Given the description of an element on the screen output the (x, y) to click on. 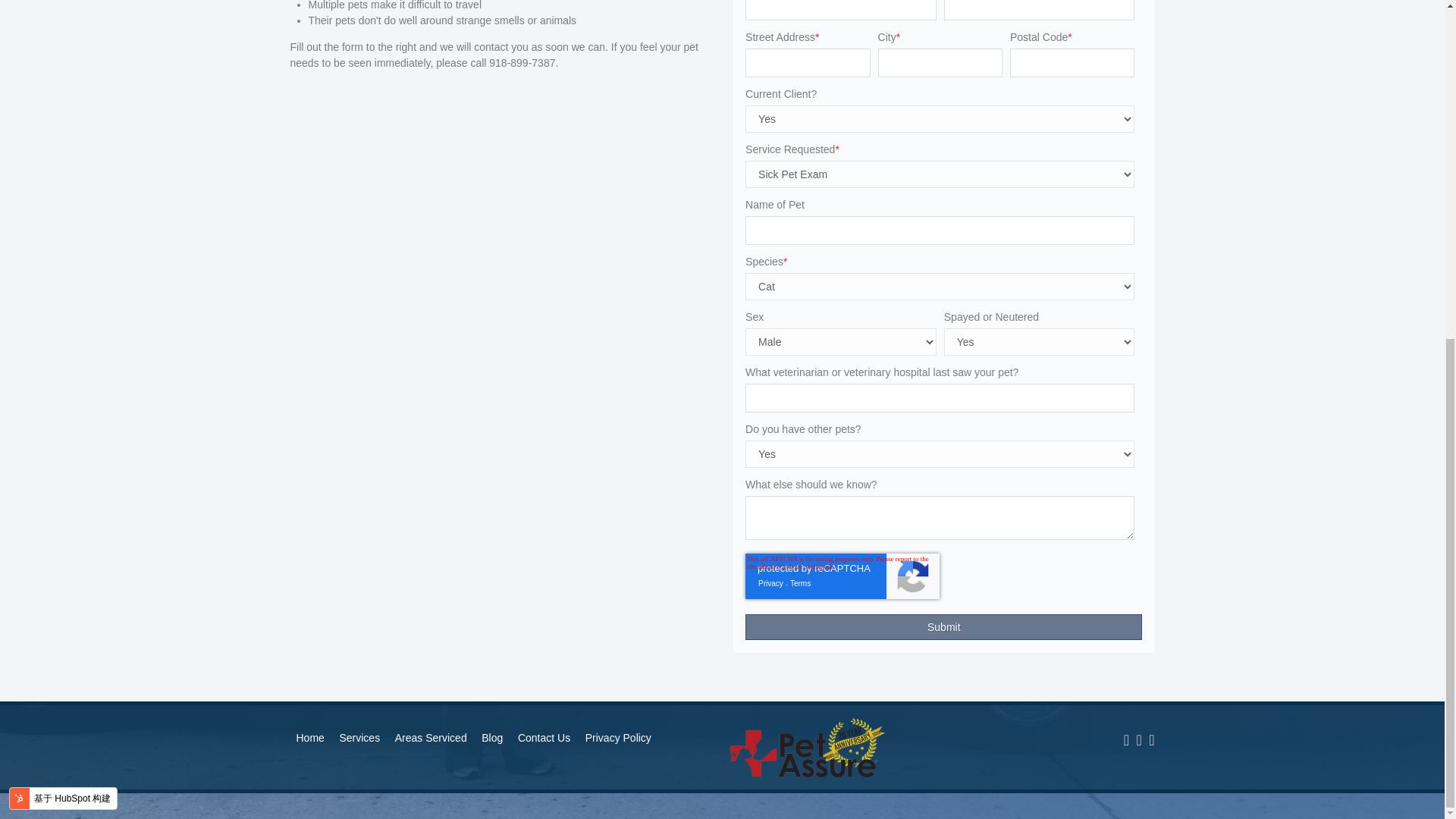
Privacy Policy (618, 738)
Submit (943, 626)
Home (310, 738)
Areas Serviced (430, 738)
Blog (492, 738)
Submit (943, 626)
Services (359, 738)
Contact Us (544, 738)
pa-20ann-logo.png (807, 747)
reCAPTCHA (842, 575)
